Given the description of an element on the screen output the (x, y) to click on. 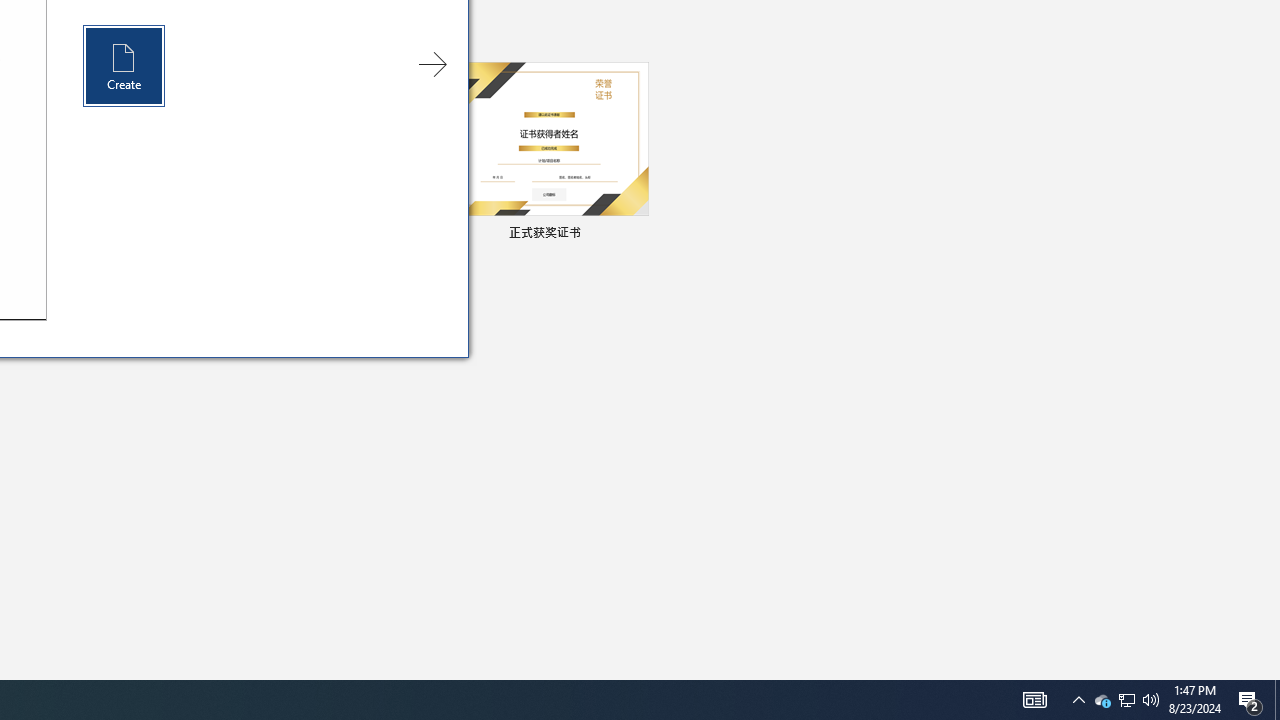
Create (124, 66)
Pin to list (635, 234)
Next Template (432, 64)
